Given the description of an element on the screen output the (x, y) to click on. 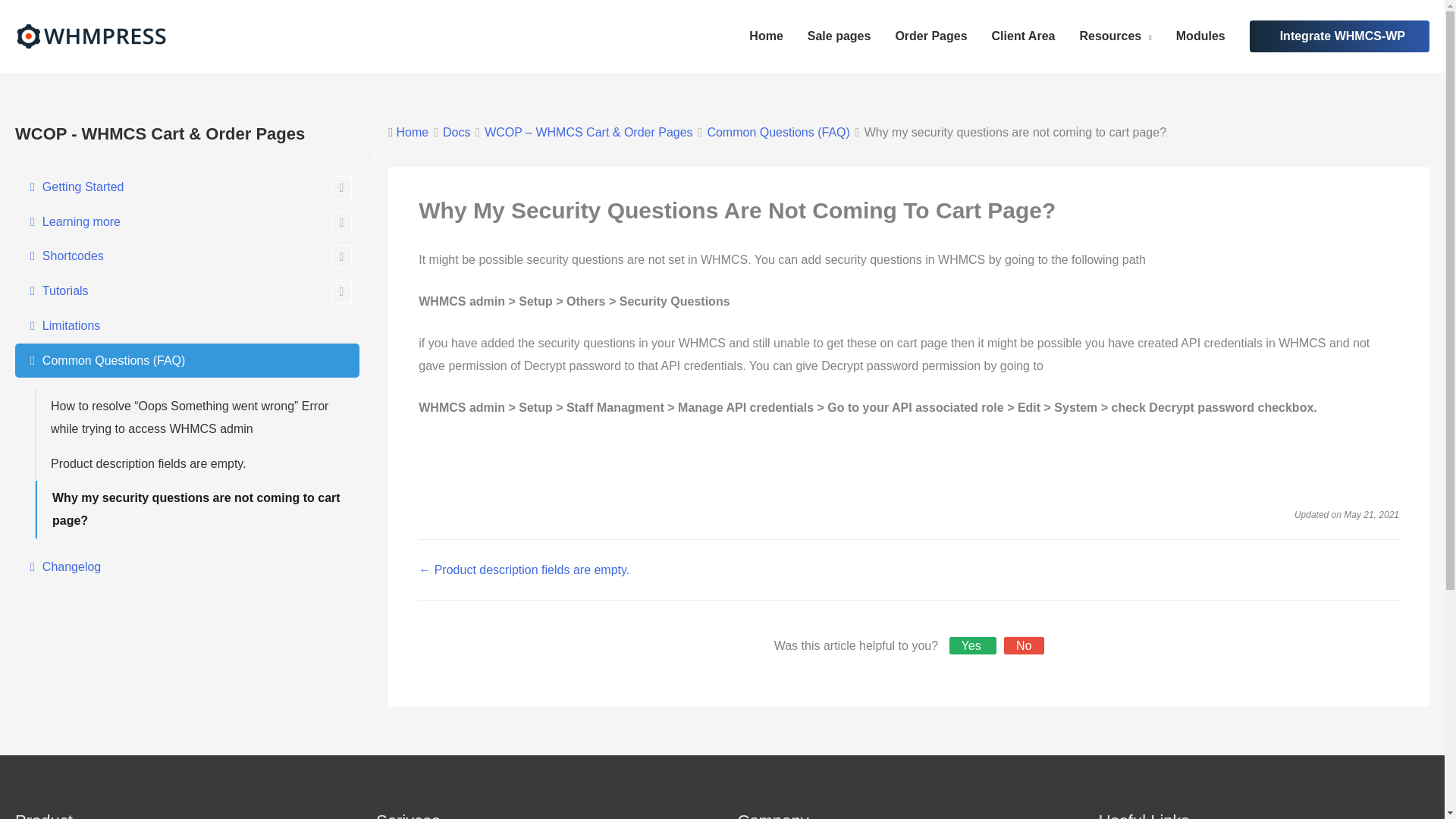
Integrate WHMCS-WP (1342, 35)
Tutorials (186, 290)
Resources (1115, 36)
Order Pages (930, 36)
Product description fields are empty. (196, 463)
Home (765, 36)
Client Area (1023, 36)
Sale pages (838, 36)
Why my security questions are not coming to cart page? (196, 508)
No votes yet (1023, 645)
